Given the description of an element on the screen output the (x, y) to click on. 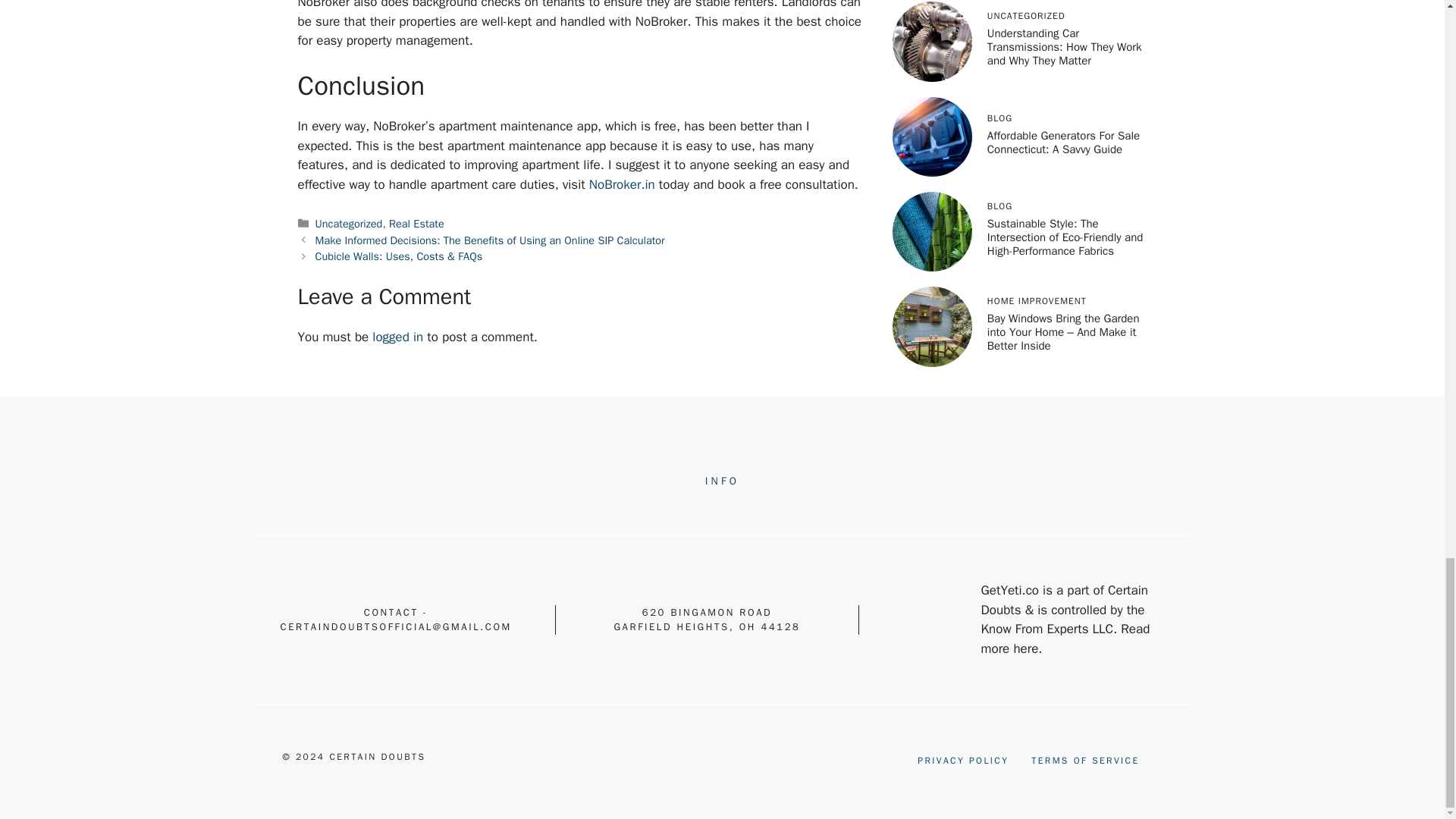
PRIVACY POLICY (963, 760)
logged in (397, 336)
Uncategorized (348, 223)
Real Estate (416, 223)
NoBroker.in (622, 183)
TERMS OF SERVICE (1084, 760)
